Given the description of an element on the screen output the (x, y) to click on. 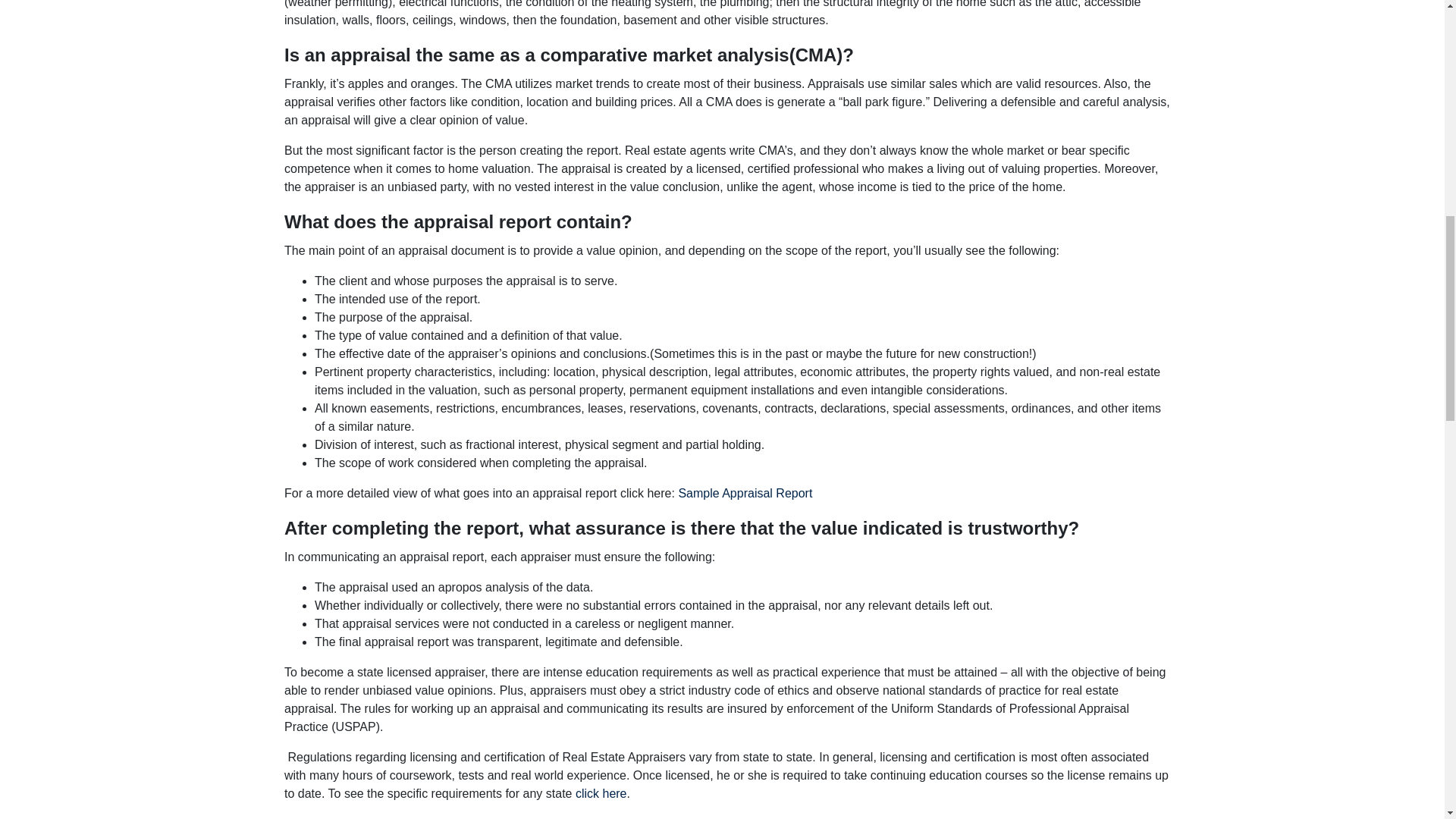
Sample Appraisal Report (745, 492)
click here (601, 793)
